Given the description of an element on the screen output the (x, y) to click on. 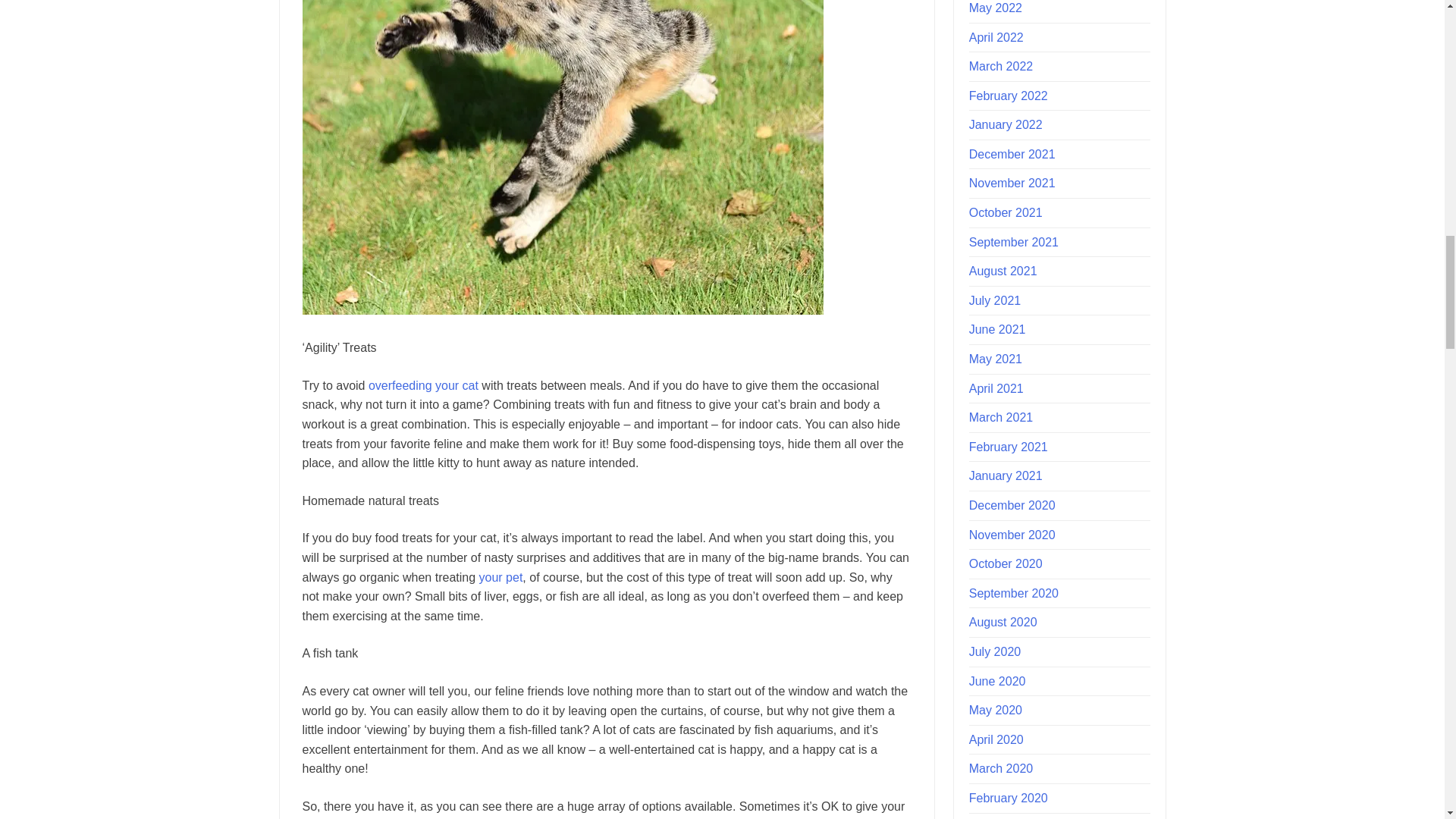
your pet (500, 576)
overfeeding your cat (423, 385)
